Given the description of an element on the screen output the (x, y) to click on. 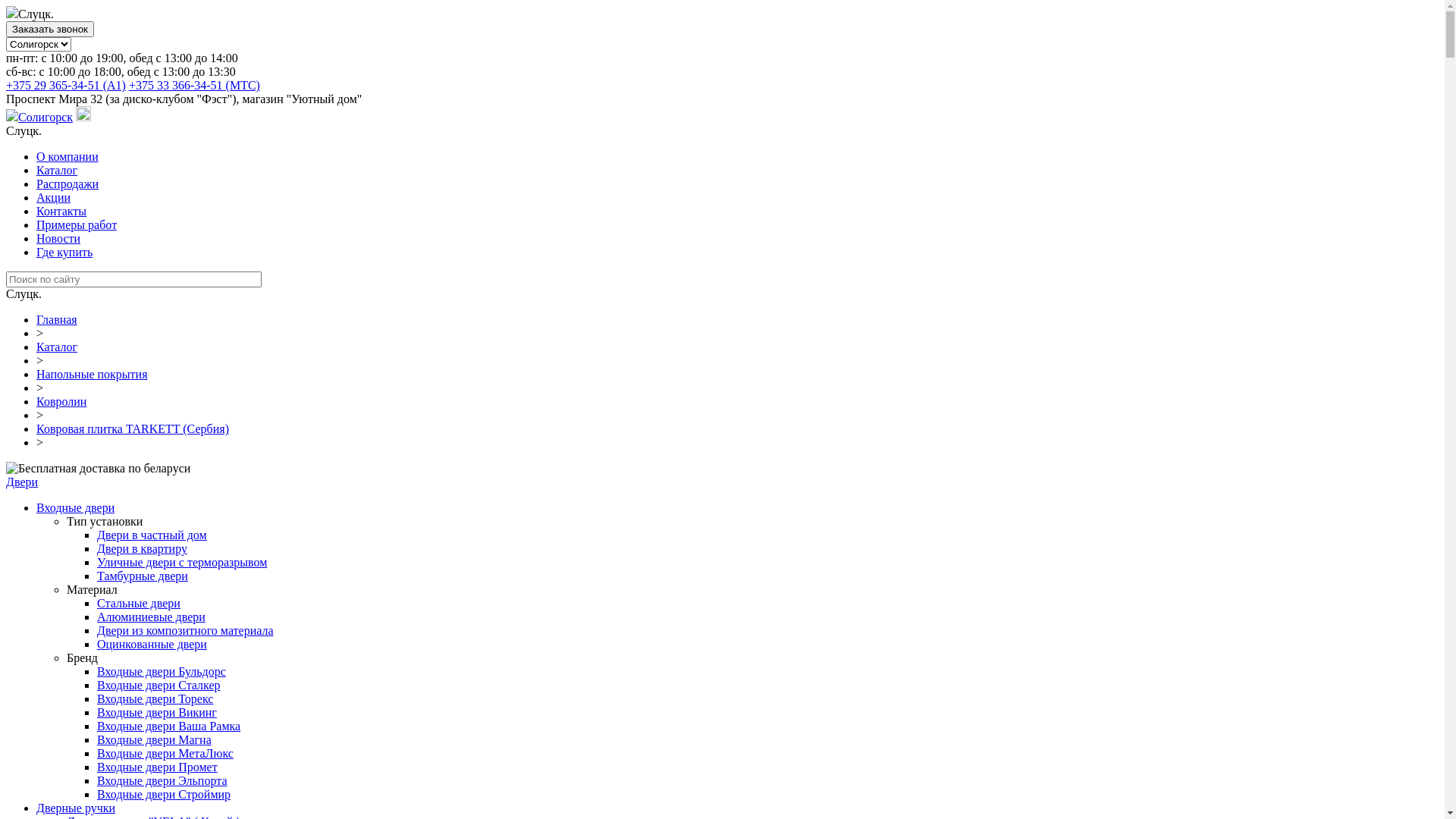
+375 29 365-34-51 (A1) Element type: text (65, 84)
+375 33 366-34-51 (MTC) Element type: text (194, 84)
